Given the description of an element on the screen output the (x, y) to click on. 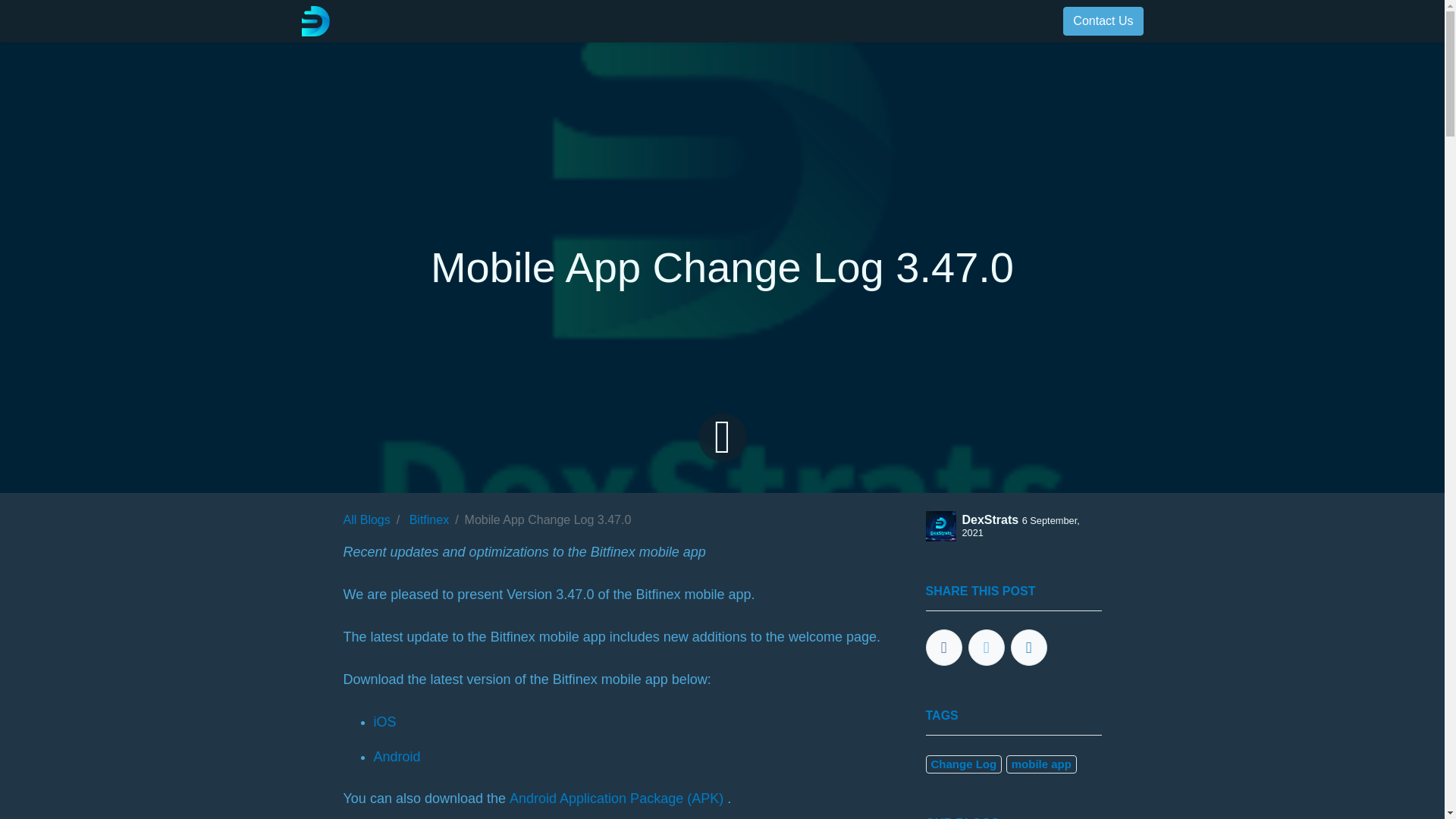
All Blogs (366, 519)
Contact Us (1102, 21)
Bitfinex (428, 519)
DexStrats (315, 20)
Share on Twitter (986, 647)
iOS (384, 721)
Share on LinkedIn (1028, 647)
Share on Facebook (942, 647)
